Given the description of an element on the screen output the (x, y) to click on. 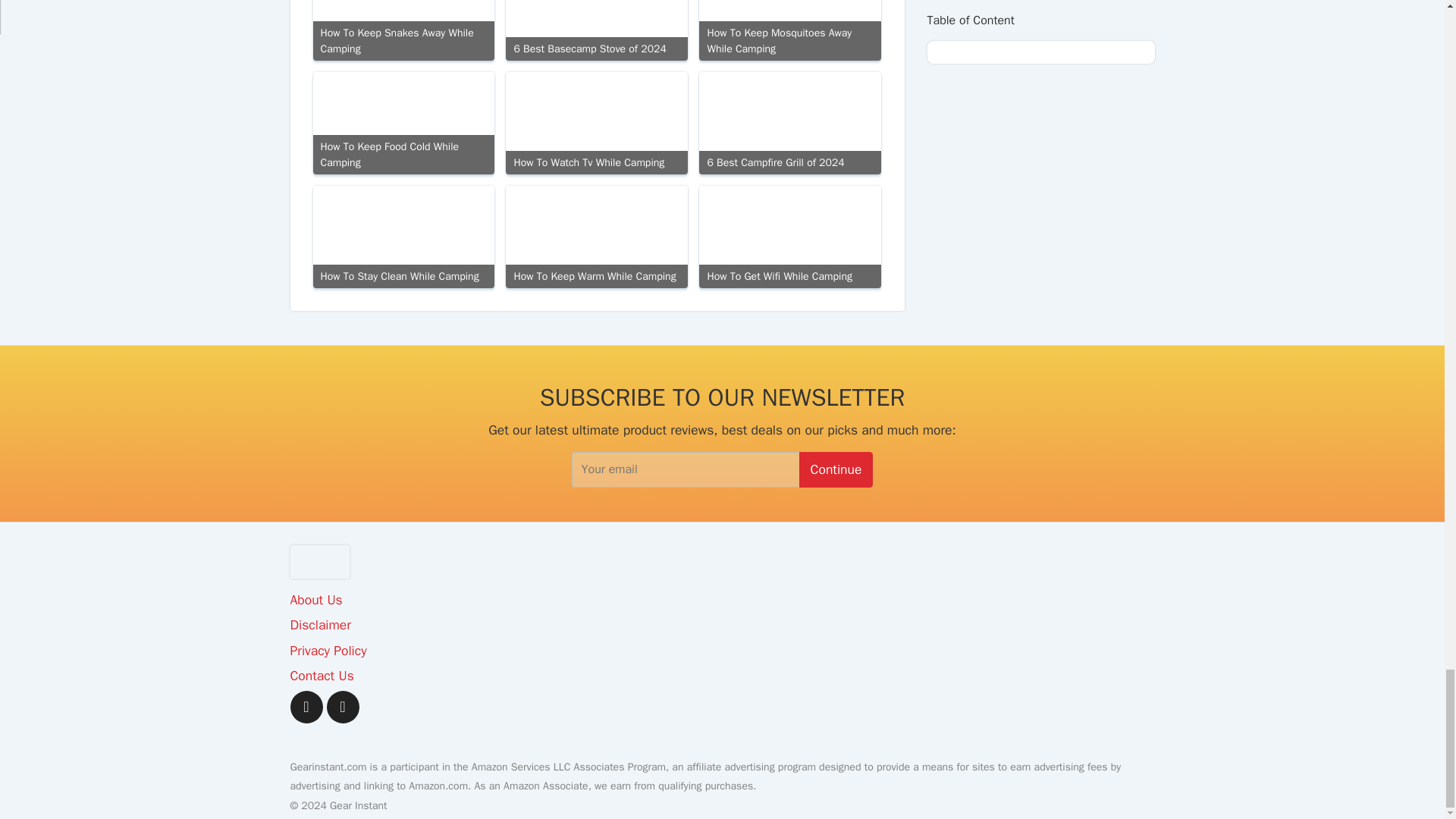
How To Keep Food Cold While Camping (404, 123)
6 Best Campfire Grill of 2024 (789, 123)
How To Keep Snakes Away While Camping (404, 30)
How To Keep Warm While Camping (596, 236)
6 Best Basecamp Stove of 2024 (596, 30)
How To Stay Clean While Camping (404, 236)
How To Get Wifi While Camping (789, 236)
How To Keep Snakes Away While Camping (404, 30)
How To Keep Mosquitoes Away While Camping (789, 30)
How To Keep Food Cold While Camping (404, 123)
How To Watch Tv While Camping (596, 123)
6 Best Basecamp Stove of 2024 (596, 30)
How To Keep Mosquitoes Away While Camping (789, 30)
